Given the description of an element on the screen output the (x, y) to click on. 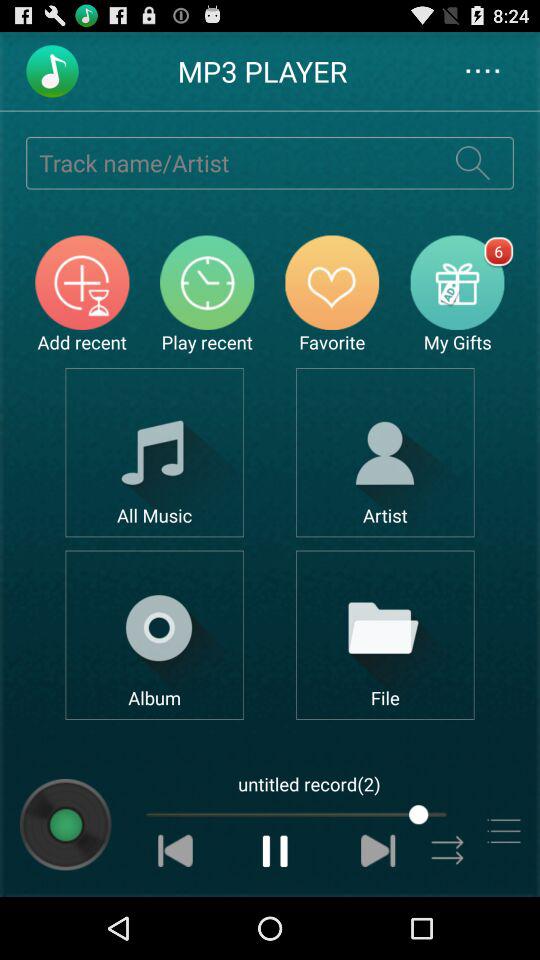
search by album (154, 634)
